Given the description of an element on the screen output the (x, y) to click on. 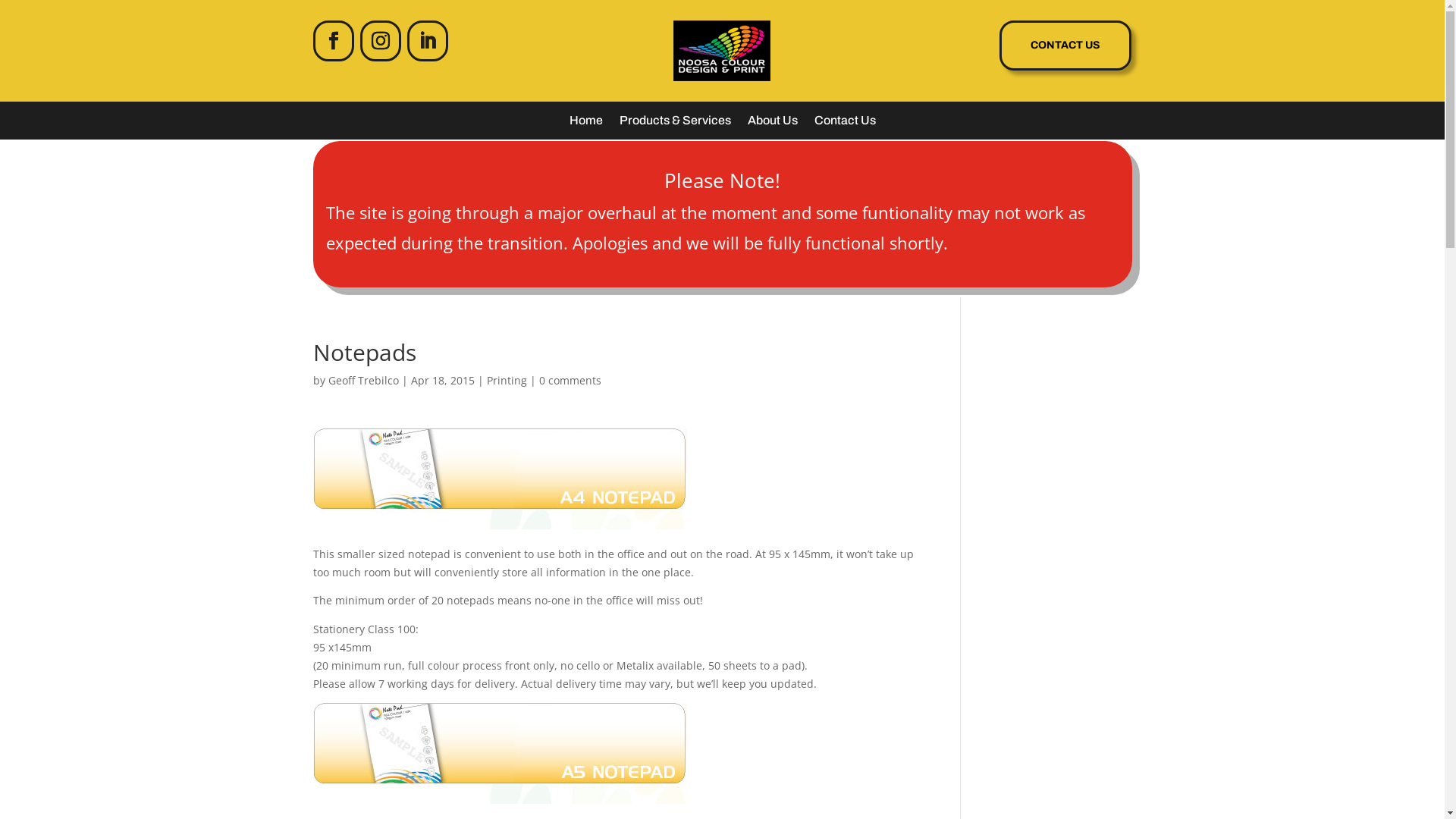
Products & Services Element type: text (674, 123)
Geoff Trebilco Element type: text (362, 380)
Follow on Facebook Element type: hover (332, 40)
Home Element type: text (585, 123)
Printing Element type: text (506, 380)
Follow on Instagram Element type: hover (379, 40)
Follow on LinkedIn Element type: hover (426, 40)
About Us Element type: text (772, 123)
0 comments Element type: text (569, 380)
Noosa Colour Logo Element type: hover (721, 50)
Contact Us Element type: text (844, 123)
CONTACT US Element type: text (1065, 45)
